Given the description of an element on the screen output the (x, y) to click on. 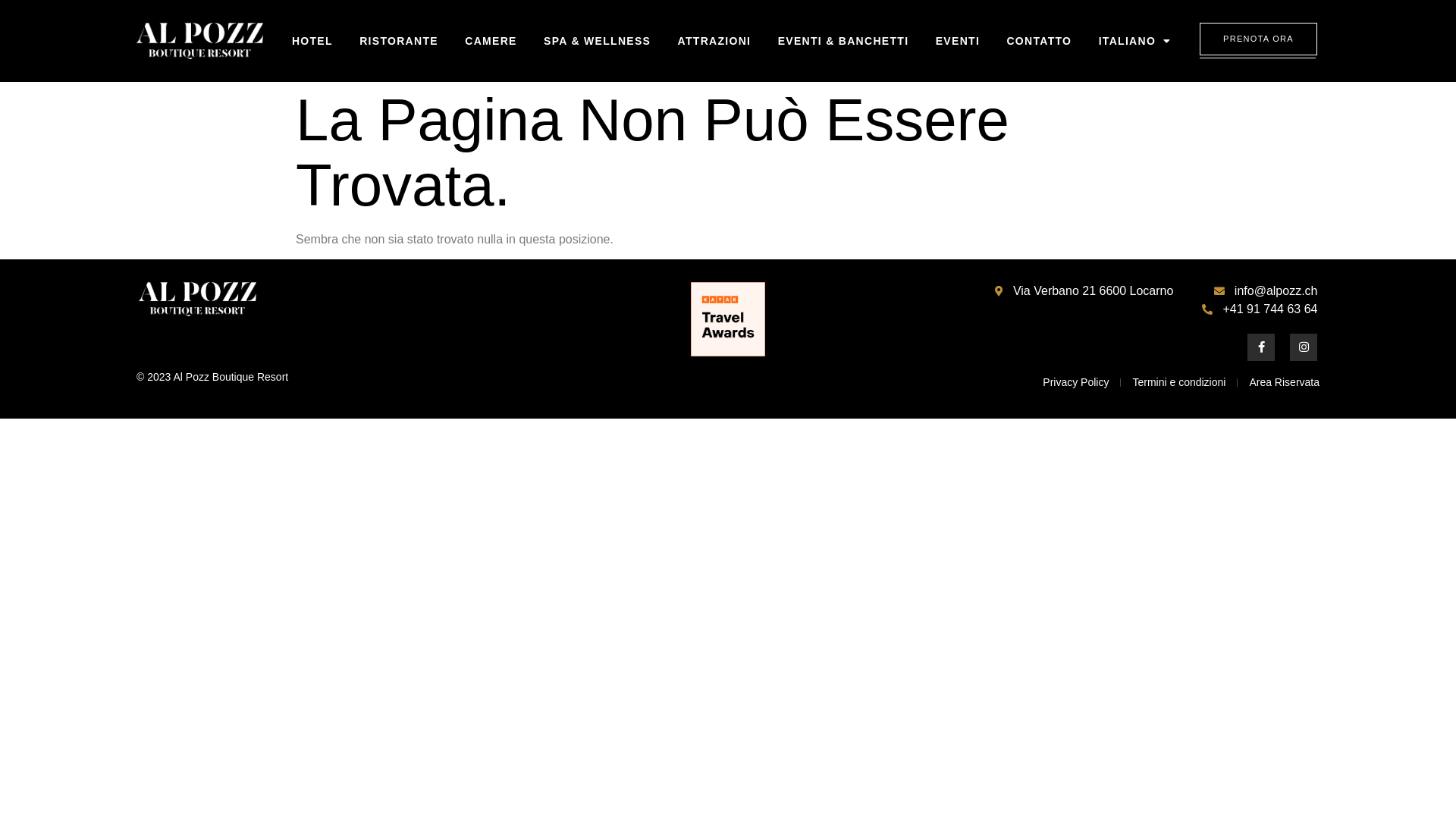
ITALIANO Element type: text (1134, 40)
SPA & WELLNESS Element type: text (596, 40)
info@alpozz.ch Element type: text (1264, 291)
HOTEL Element type: text (311, 40)
CONTATTO Element type: text (1039, 40)
+41 91 744 63 64 Element type: text (1258, 309)
EVENTI & BANCHETTI Element type: text (843, 40)
ATTRAZIONI Element type: text (714, 40)
EVENTI Element type: text (957, 40)
CAMERE Element type: text (490, 40)
PRENOTA ORA Element type: text (1258, 38)
Area Riservata Element type: text (1283, 382)
RISTORANTE Element type: text (398, 40)
